Given the description of an element on the screen output the (x, y) to click on. 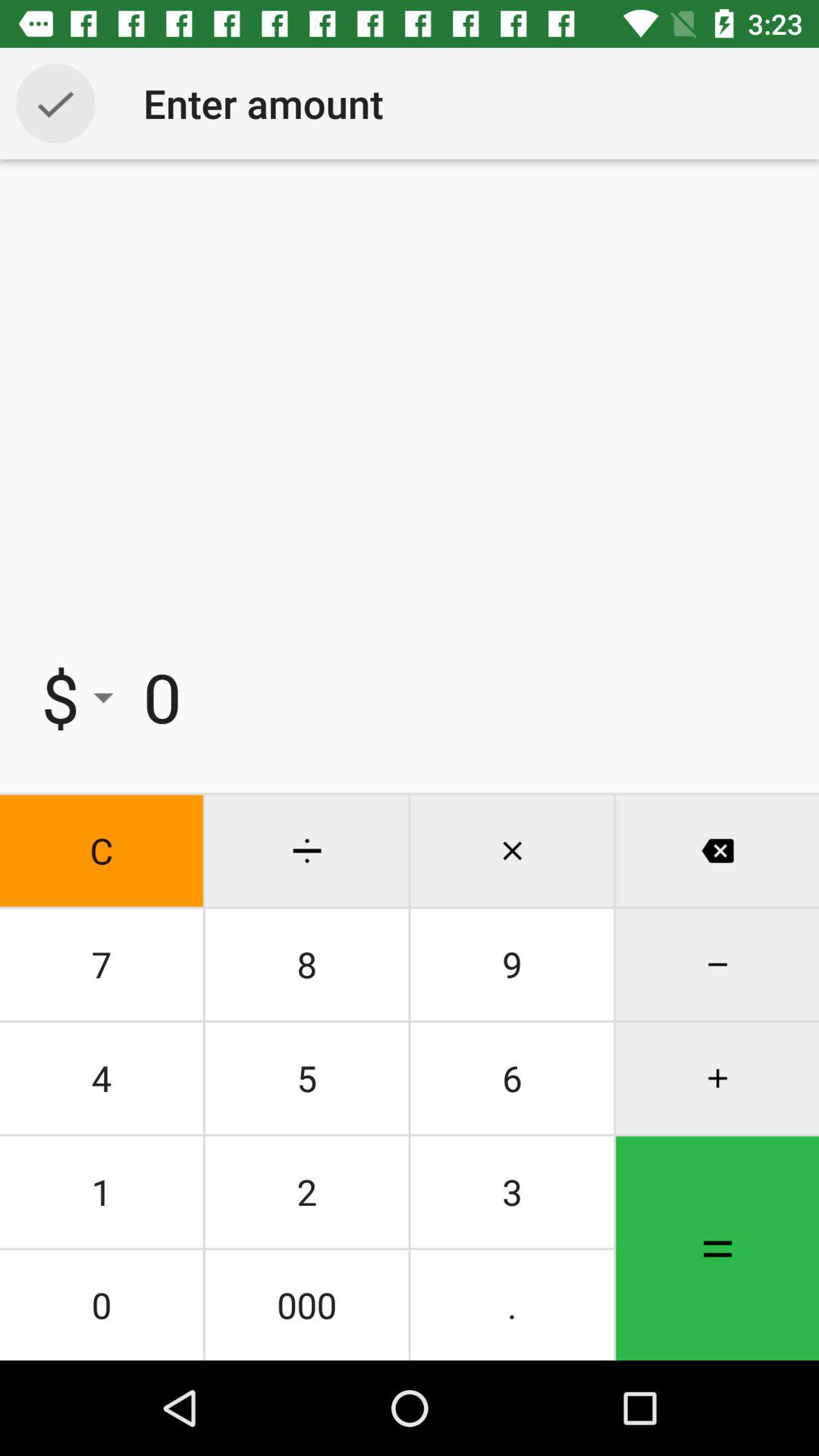
select icon above the 000 icon (511, 1191)
